Given the description of an element on the screen output the (x, y) to click on. 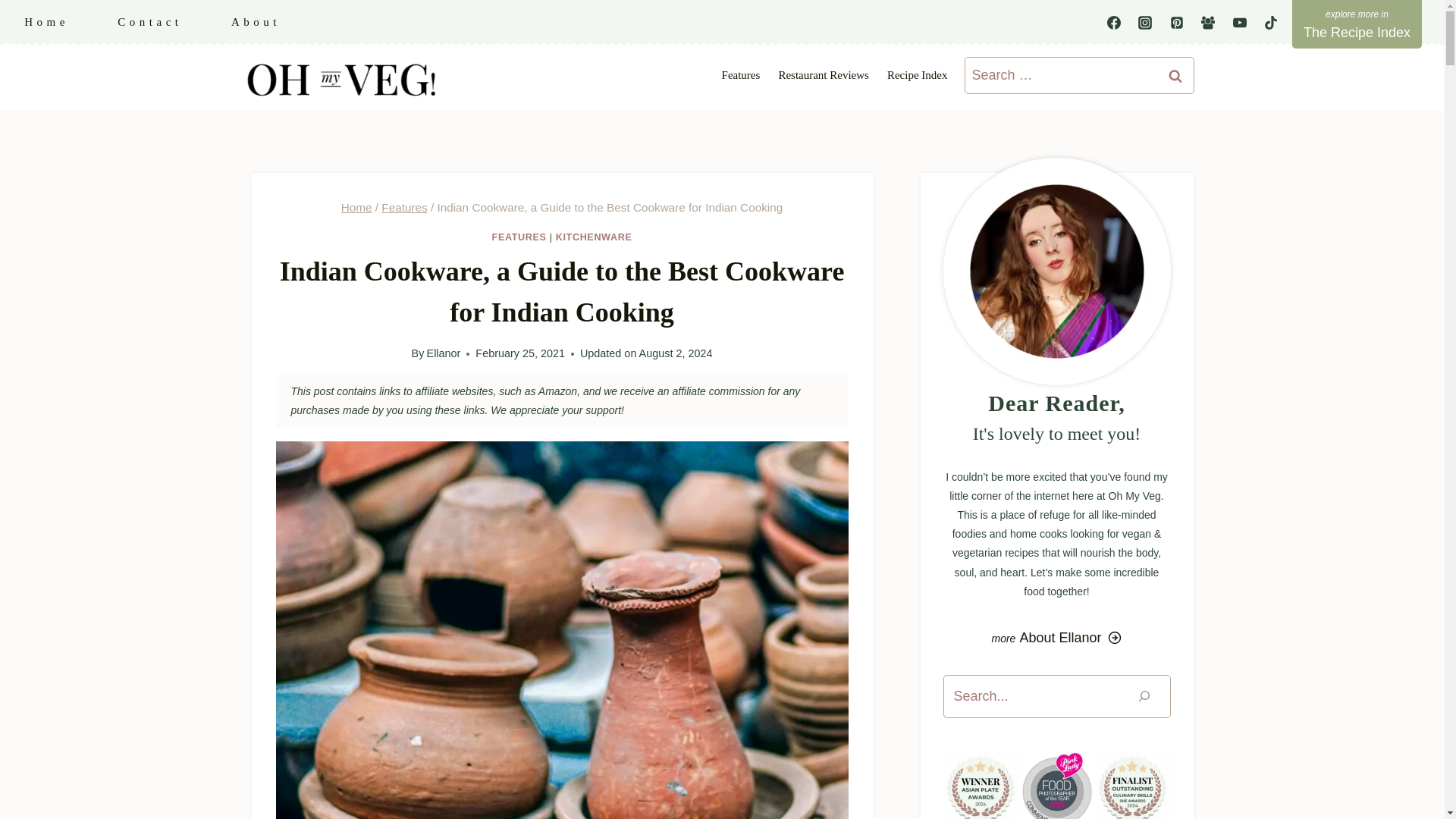
Features (403, 206)
The Recipe Index (1357, 24)
Ellanor (443, 353)
Recipe Index (916, 75)
About (255, 22)
Home (46, 22)
KITCHENWARE (593, 236)
Search (1174, 75)
Restaurant Reviews (822, 75)
Home (356, 206)
Contact (149, 22)
Features (741, 75)
FEATURES (519, 236)
Search (1174, 75)
Search (1174, 75)
